Given the description of an element on the screen output the (x, y) to click on. 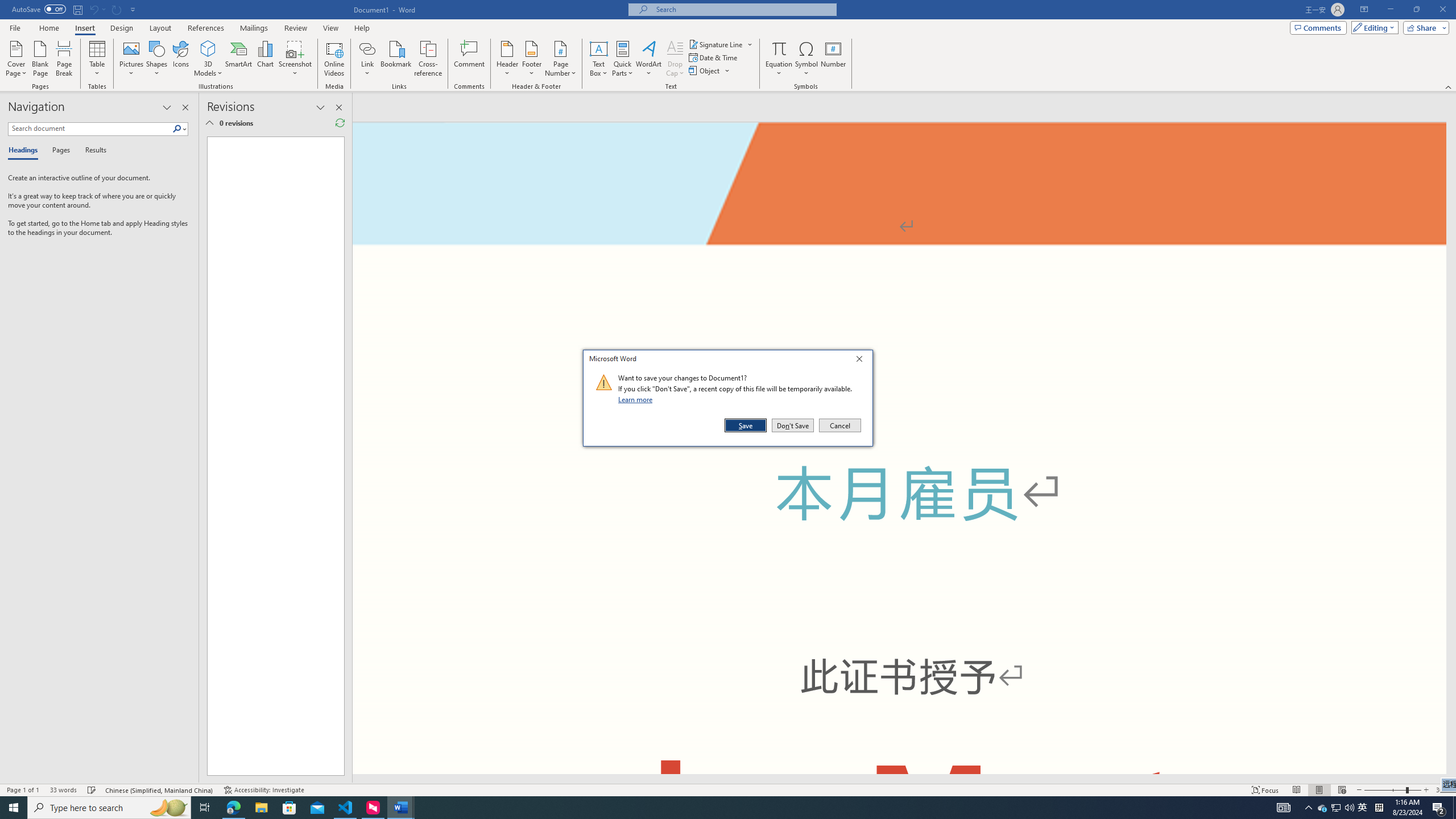
Symbol (806, 58)
Don't Save (792, 425)
Number... (833, 58)
3D Models (208, 58)
SmartArt... (238, 58)
Online Videos... (333, 58)
Refresh Reviewing Pane (339, 122)
Running applications (700, 807)
